Given the description of an element on the screen output the (x, y) to click on. 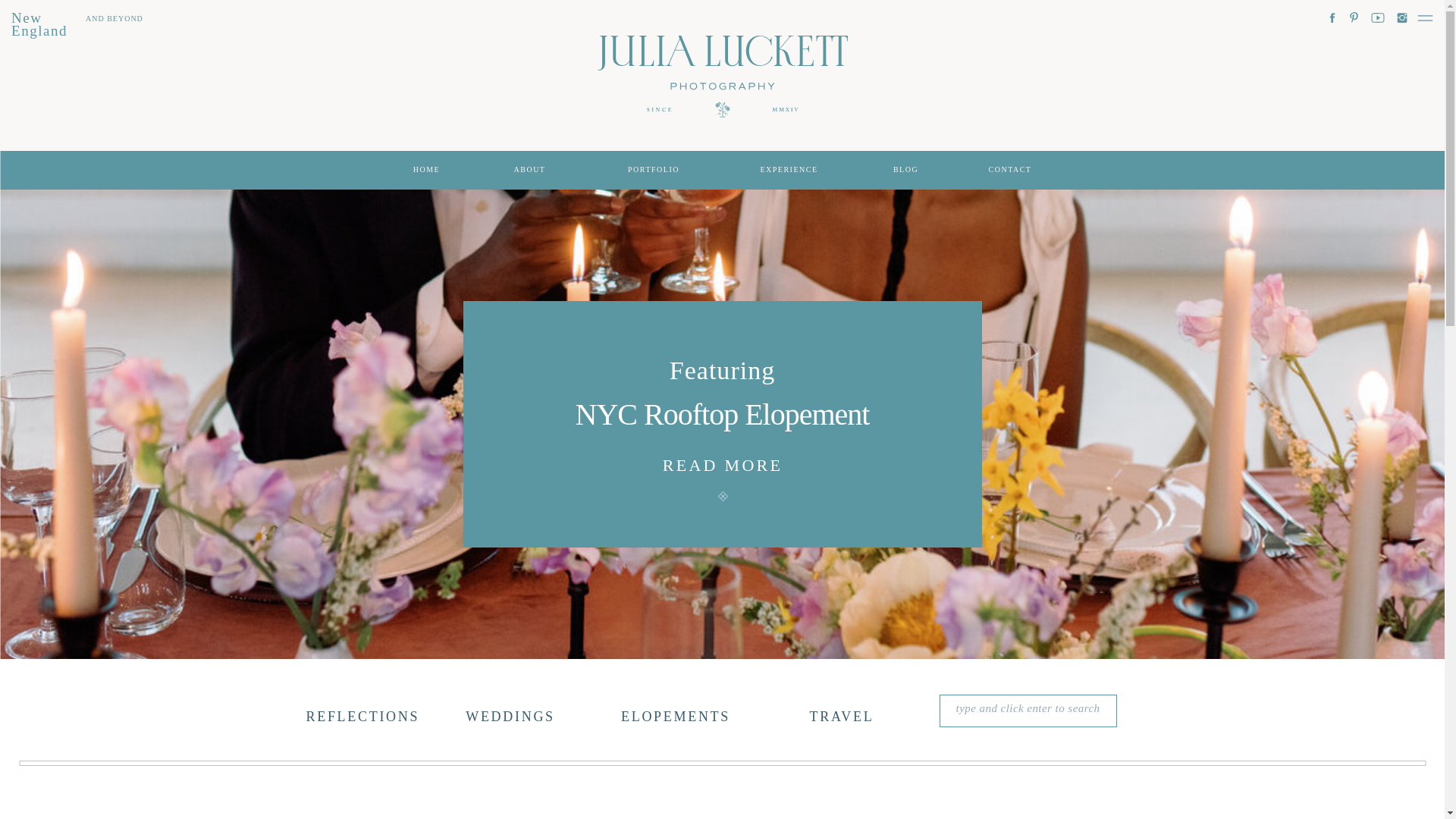
ELOPEMENTS (675, 716)
EXPERIENCE (788, 169)
TRAVEL (842, 716)
WEDDINGS (511, 713)
BLOG (905, 169)
CONTACT (1009, 169)
ABOUT (529, 169)
REFLECTIONS (359, 713)
READ MORE (723, 458)
HOME (427, 169)
PORTFOLIO (653, 169)
NYC Rooftop Elopement (721, 413)
